Given the description of an element on the screen output the (x, y) to click on. 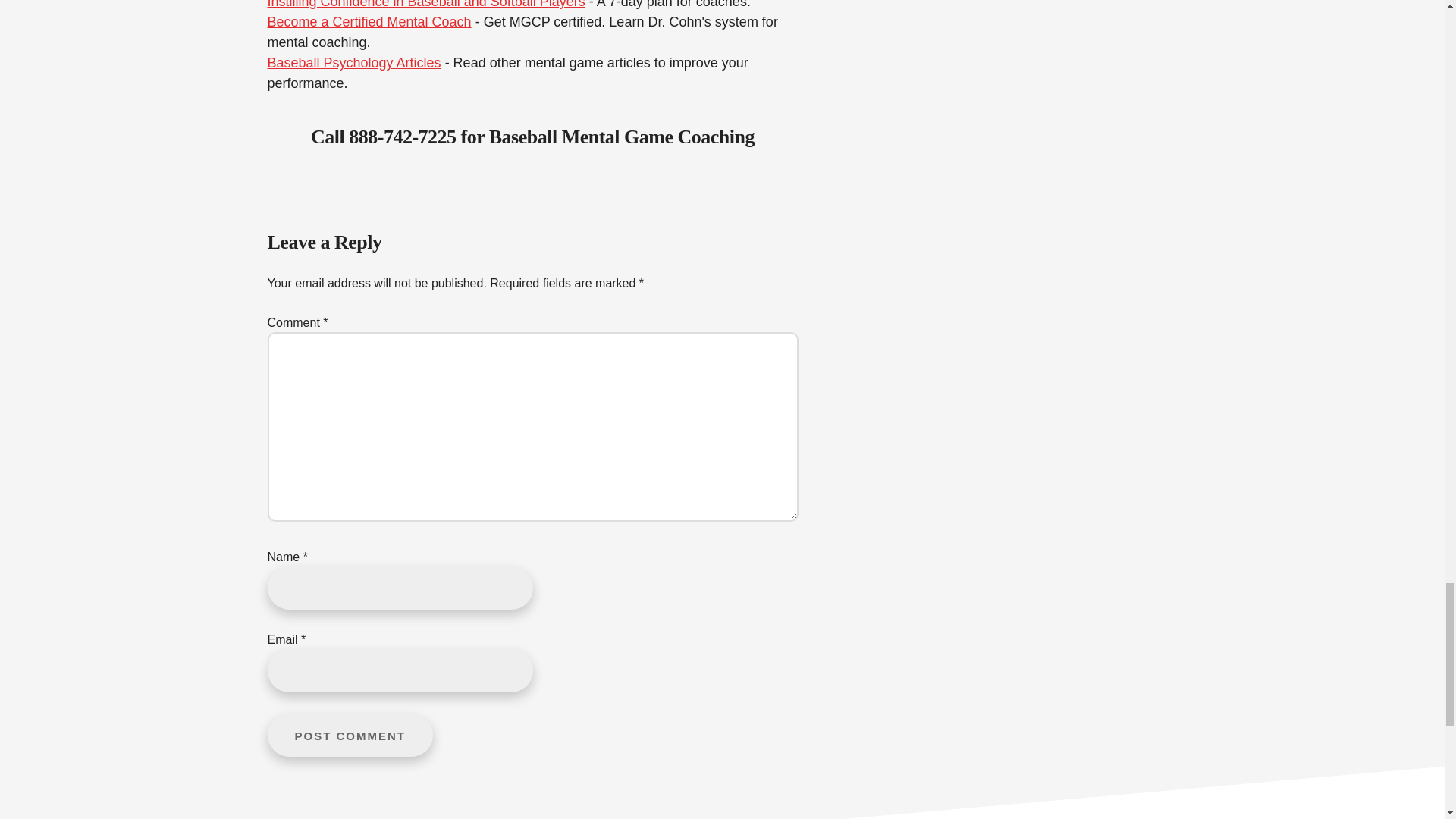
Post Comment (349, 734)
